Given the description of an element on the screen output the (x, y) to click on. 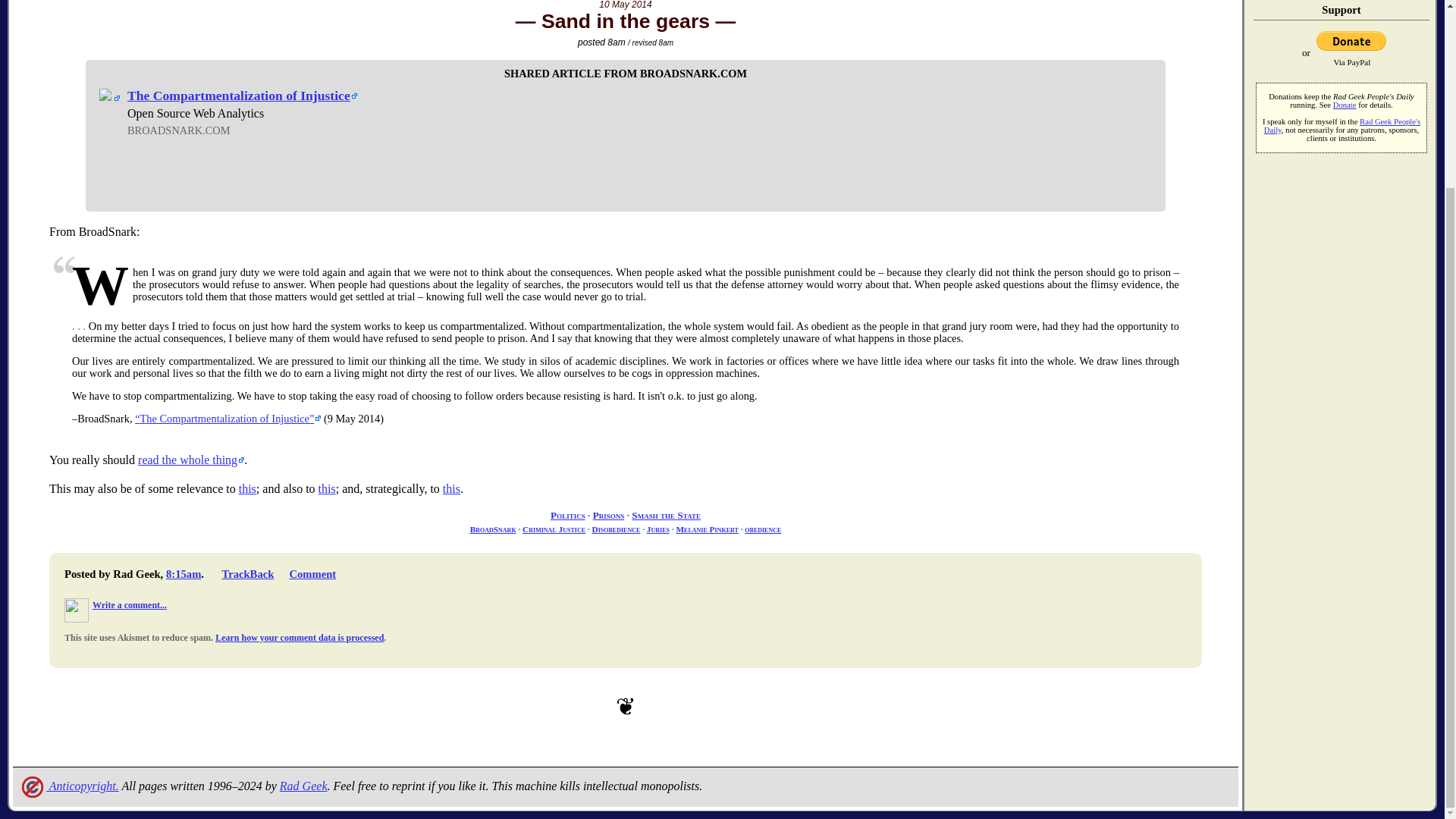
Anticopyright. (68, 785)
Rad Geek People's Daily: Contact Me (303, 785)
this (451, 488)
Donate (1344, 104)
Rad Geek (303, 785)
obedience (762, 528)
Rad Geek People's Daily (1342, 125)
Prisons (608, 514)
read the whole thing (191, 459)
BroadSnark (493, 528)
Melanie Pinkert (706, 528)
Sand in the gears (625, 20)
The Compartmentalization of Injustice (227, 418)
Criminal Justice (553, 528)
The Compartmentalization of Injustice (242, 95)
